Given the description of an element on the screen output the (x, y) to click on. 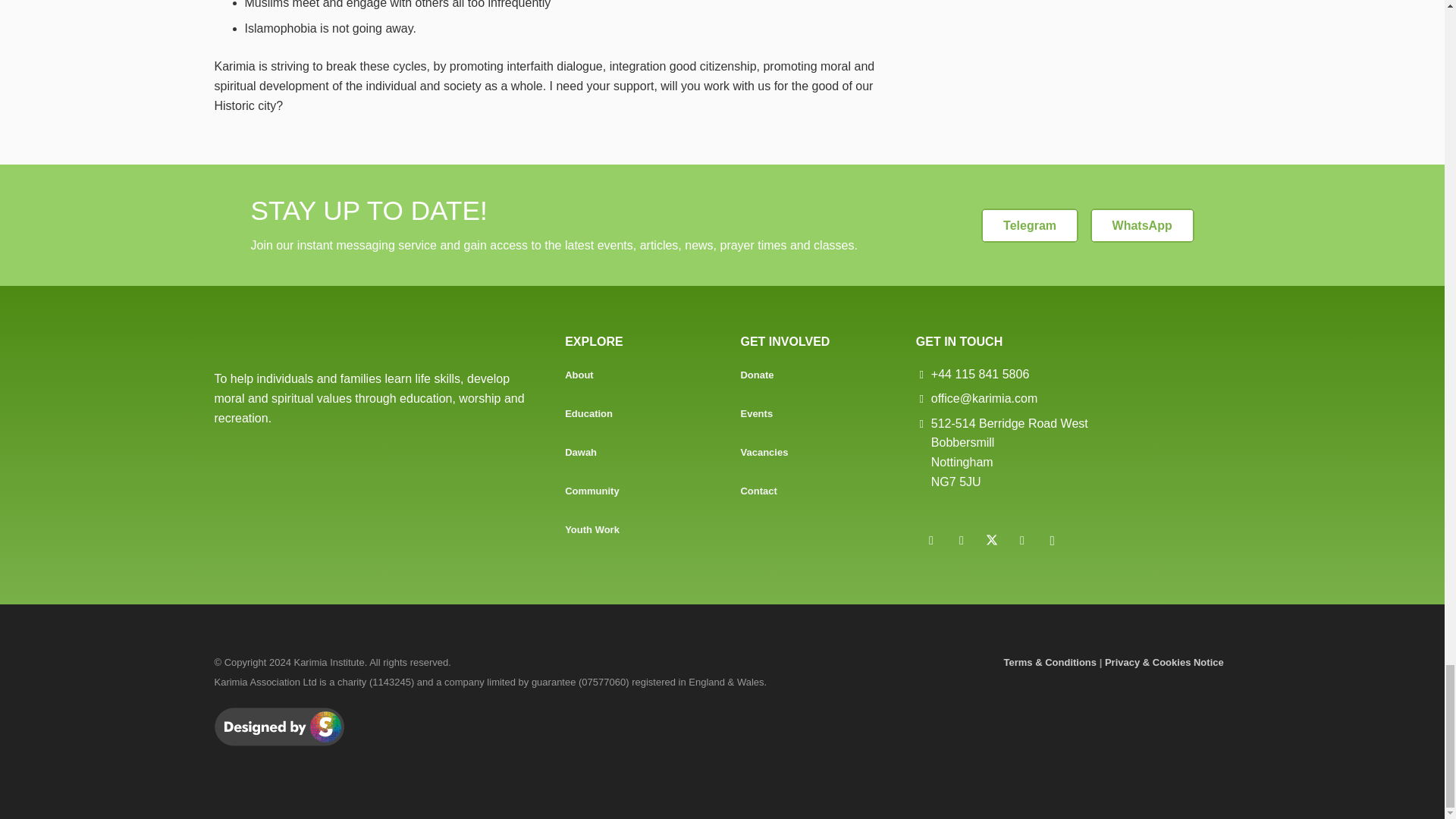
YouTube (1021, 540)
Facebook (961, 540)
LinkedIn (930, 540)
Twitter (991, 540)
Instagram (1051, 540)
